Given the description of an element on the screen output the (x, y) to click on. 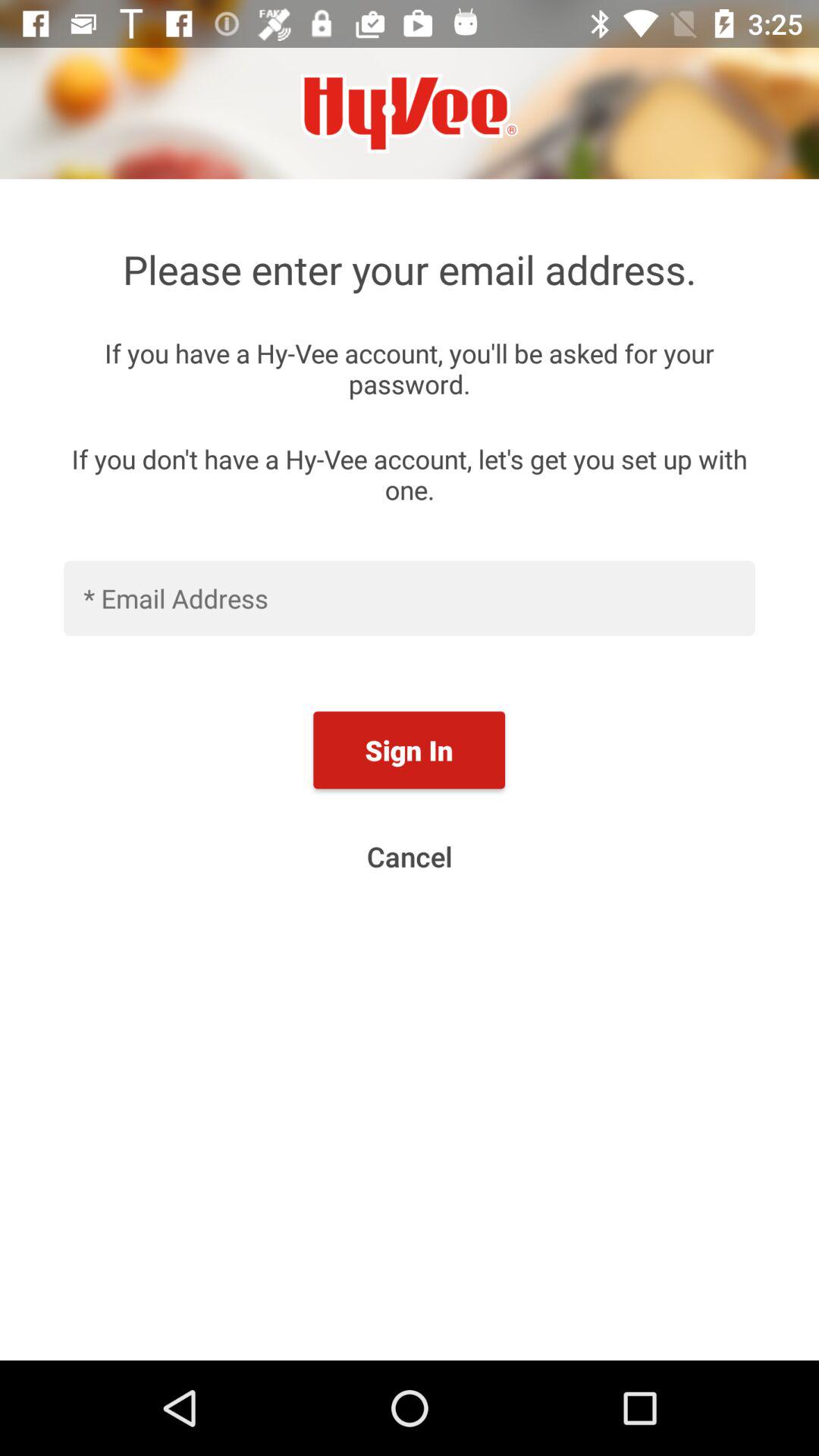
launch cancel (409, 856)
